Given the description of an element on the screen output the (x, y) to click on. 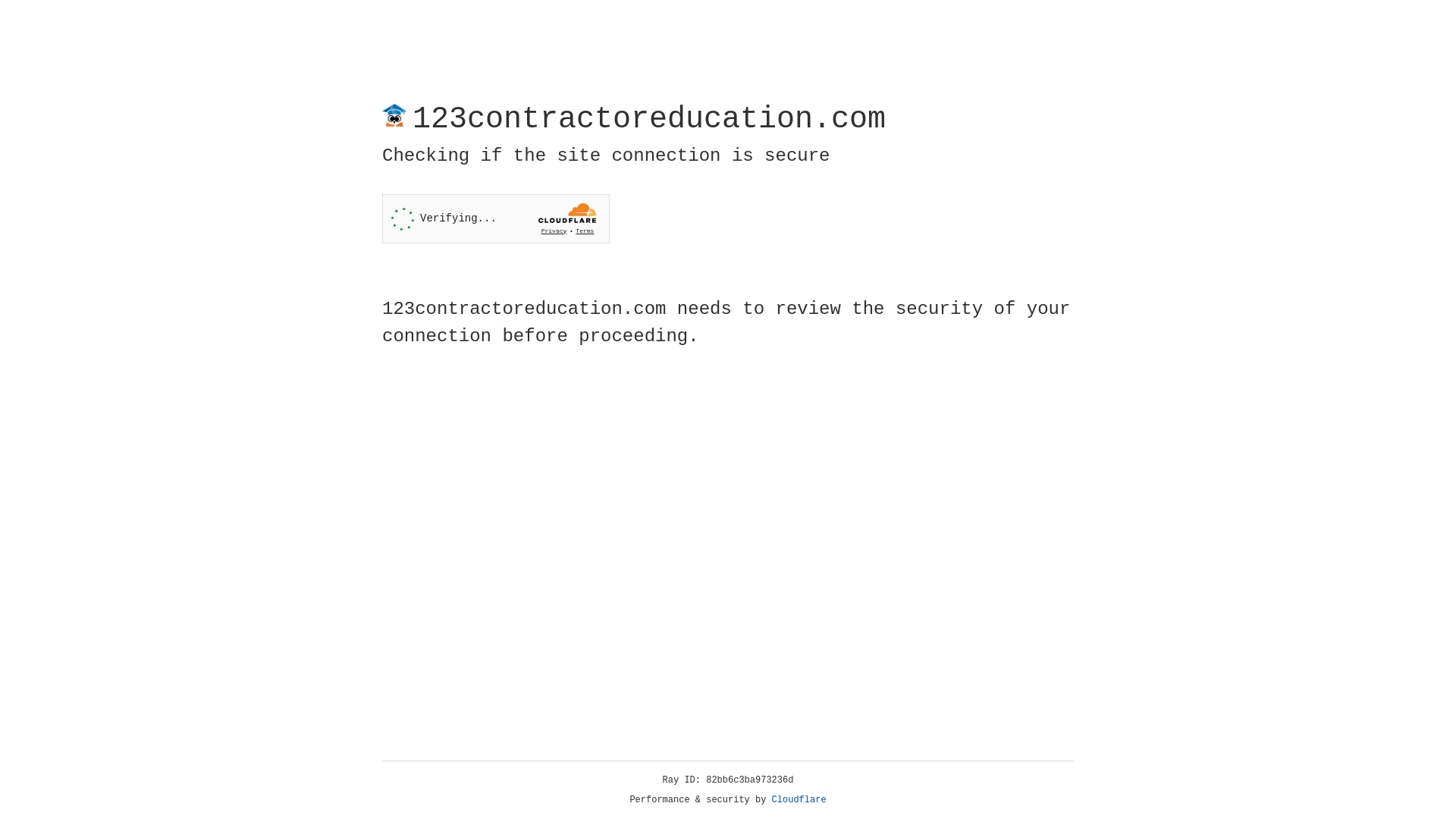
Cloudflare Element type: text (798, 799)
Widget containing a Cloudflare security challenge Element type: hover (495, 218)
